Given the description of an element on the screen output the (x, y) to click on. 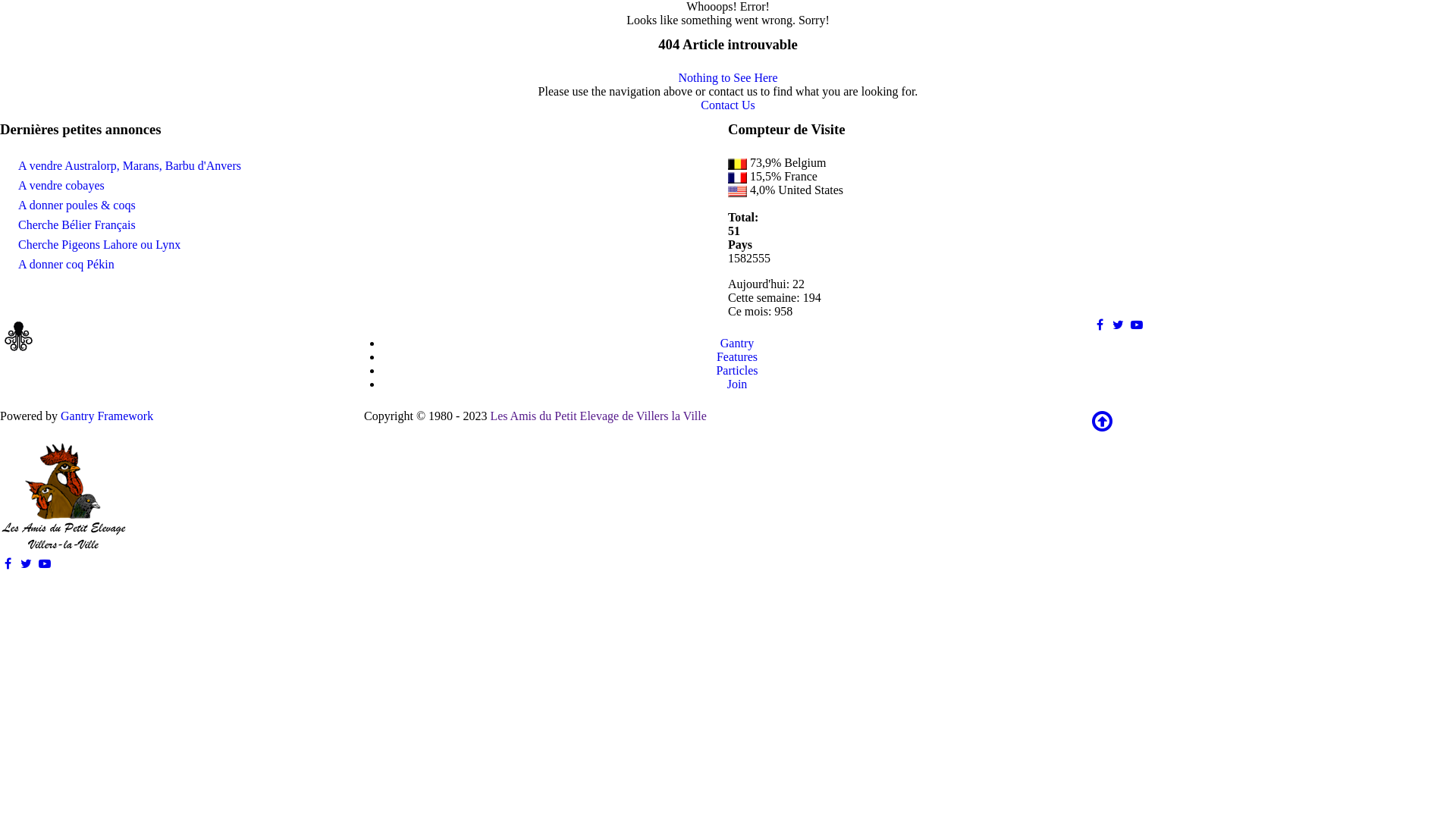
Nothing to See Here Element type: text (727, 77)
Particles Element type: text (736, 370)
749 Element type: hover (737, 177)
Cherche Pigeons Lahore ou Lynx Element type: text (99, 244)
Les Amis du Petit Elevage de Villers la Ville Element type: text (597, 415)
A vendre Australorp, Marans, Barbu d'Anvers Element type: text (129, 165)
Gantry Element type: text (736, 342)
Features Element type: text (736, 356)
A donner poules & coqs Element type: text (76, 204)
A vendre cobayes Element type: text (61, 184)
194 Element type: hover (737, 191)
Join Element type: text (737, 383)
Gantry Framework Element type: text (106, 415)
Contact Us Element type: text (727, 104)
3.580 Element type: hover (737, 163)
